Given the description of an element on the screen output the (x, y) to click on. 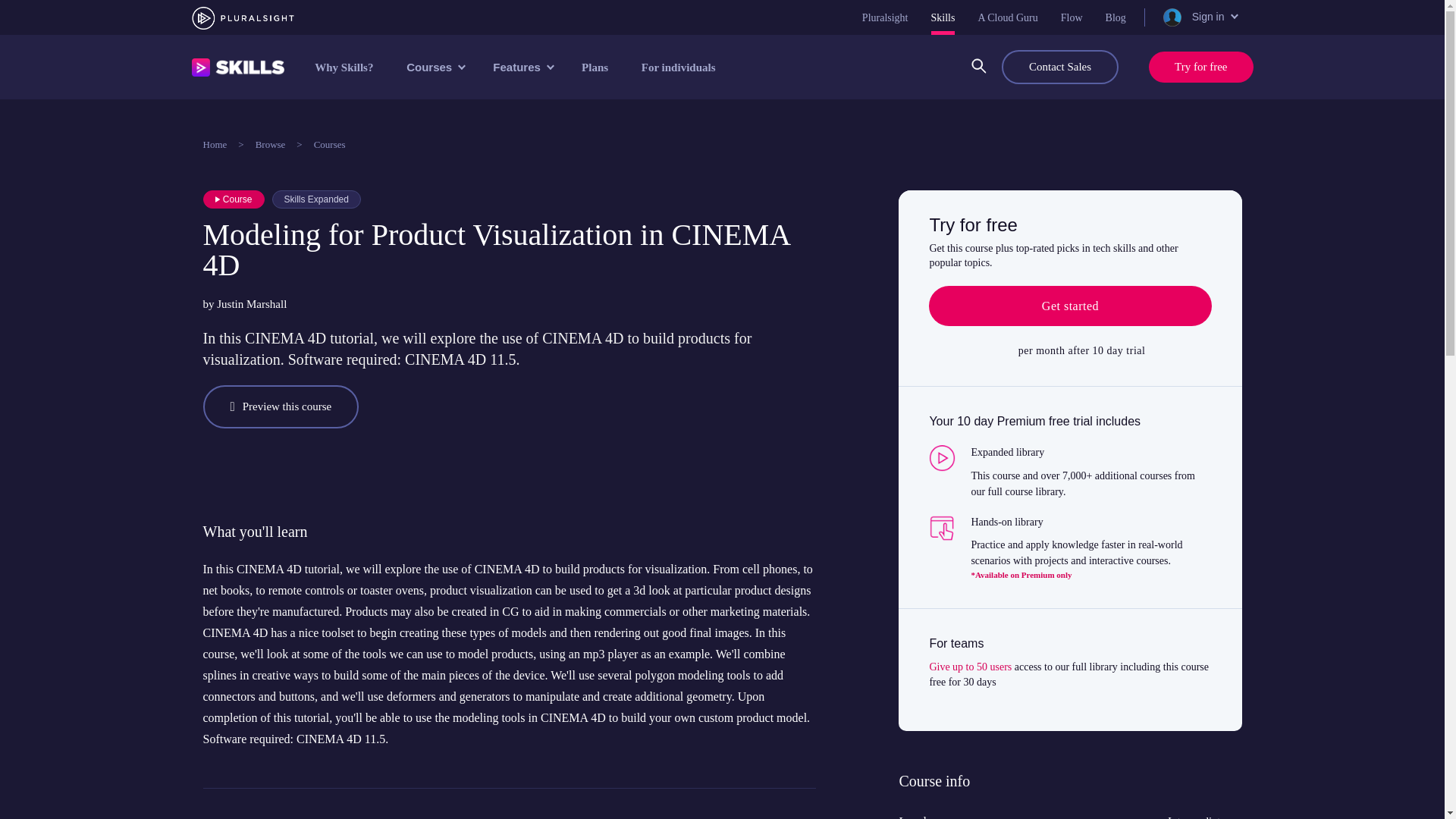
Sign in (1198, 17)
A Cloud Guru (1006, 16)
Flow (1072, 16)
Blog (1115, 16)
Start free trial now (1069, 305)
Courses (434, 66)
Pluralsight (884, 16)
Why Skills? (344, 66)
Skills (943, 16)
